Given the description of an element on the screen output the (x, y) to click on. 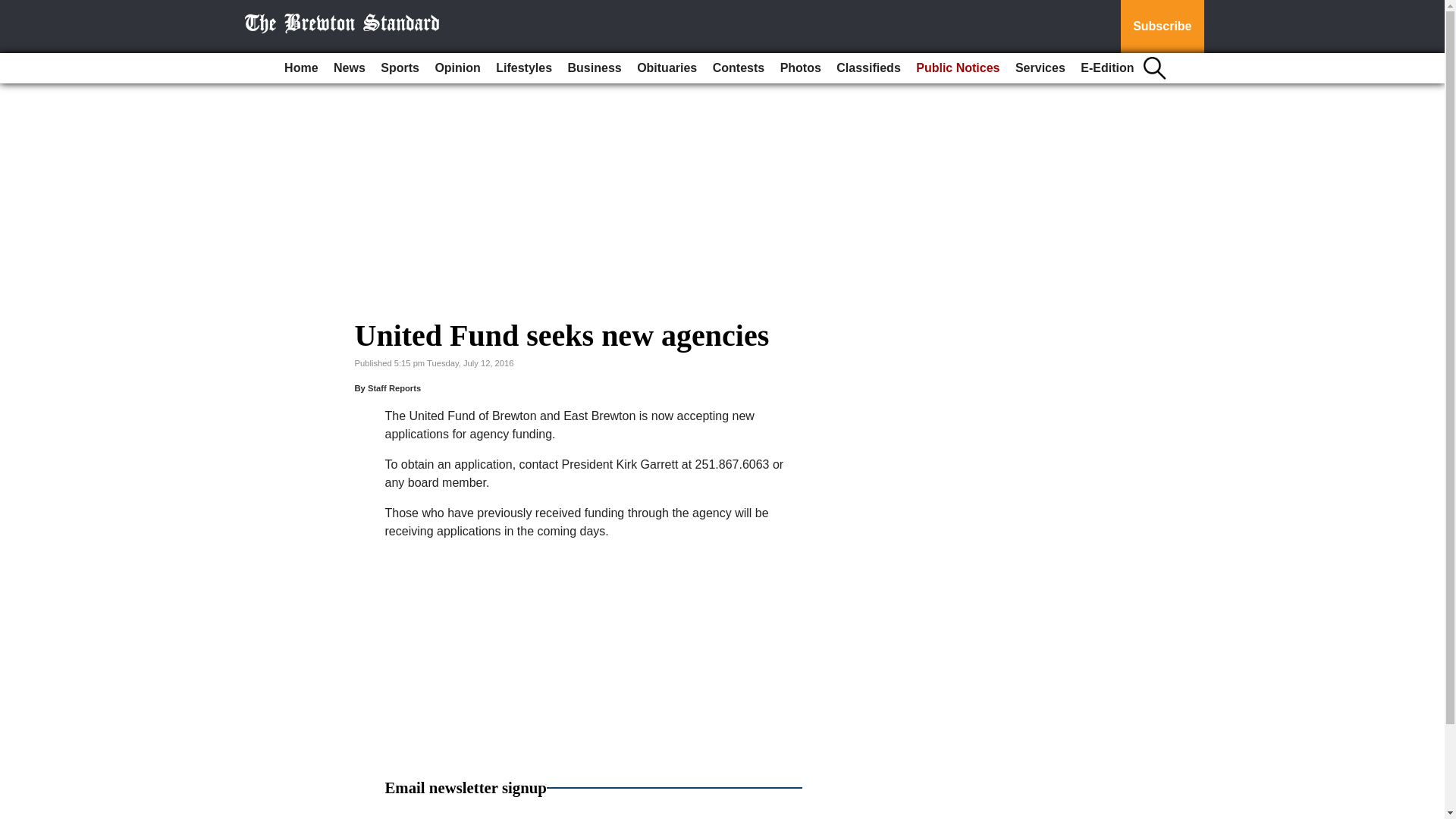
Photos (800, 68)
Public Notices (958, 68)
Contests (738, 68)
Subscribe (1162, 26)
Services (1040, 68)
Go (13, 9)
News (349, 68)
Home (300, 68)
E-Edition (1107, 68)
Obituaries (666, 68)
Opinion (457, 68)
Lifestyles (523, 68)
Classifieds (867, 68)
Sports (399, 68)
Business (594, 68)
